Given the description of an element on the screen output the (x, y) to click on. 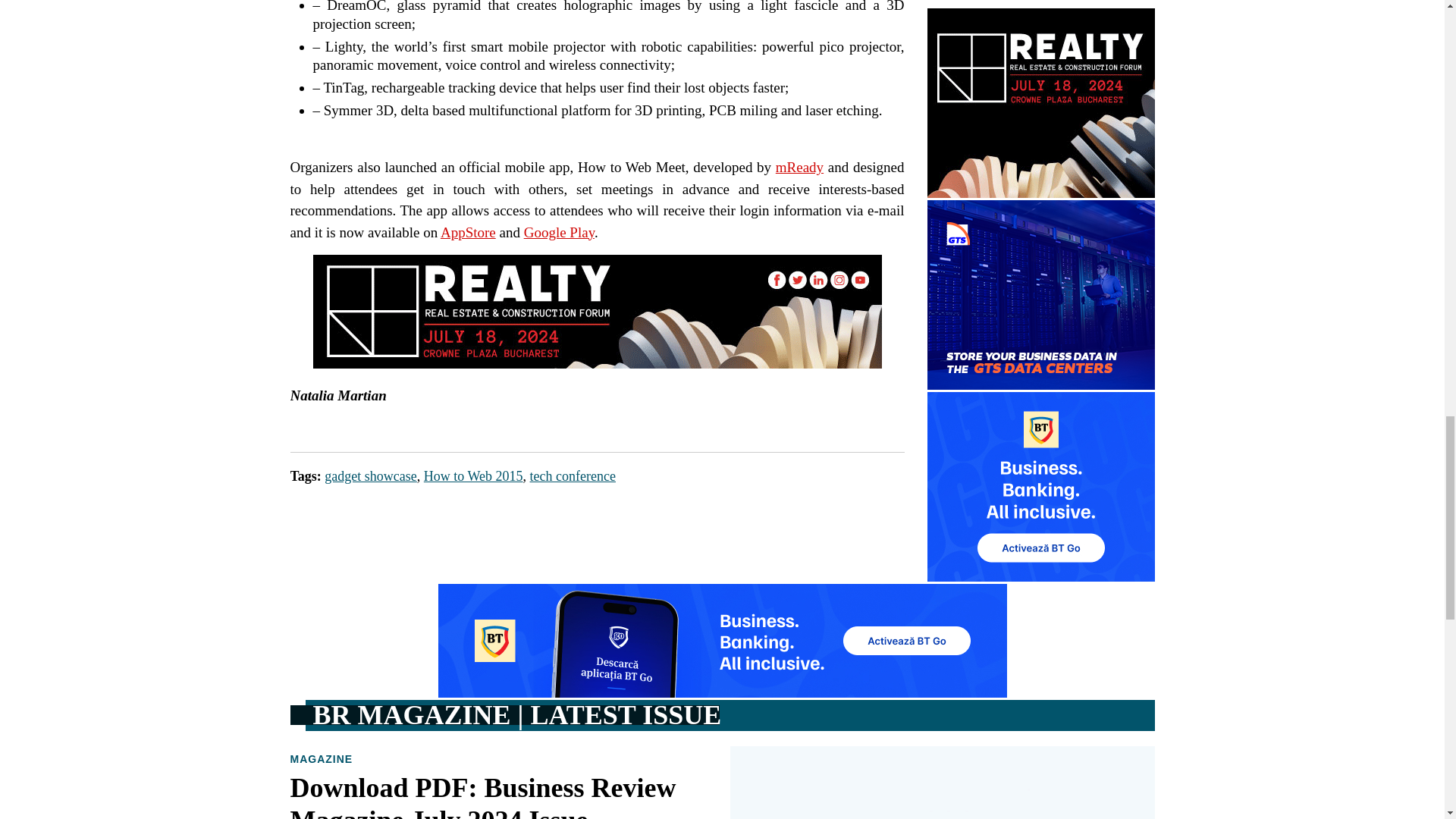
Google Play (559, 232)
mReady (800, 166)
AppStore (468, 232)
